Given the description of an element on the screen output the (x, y) to click on. 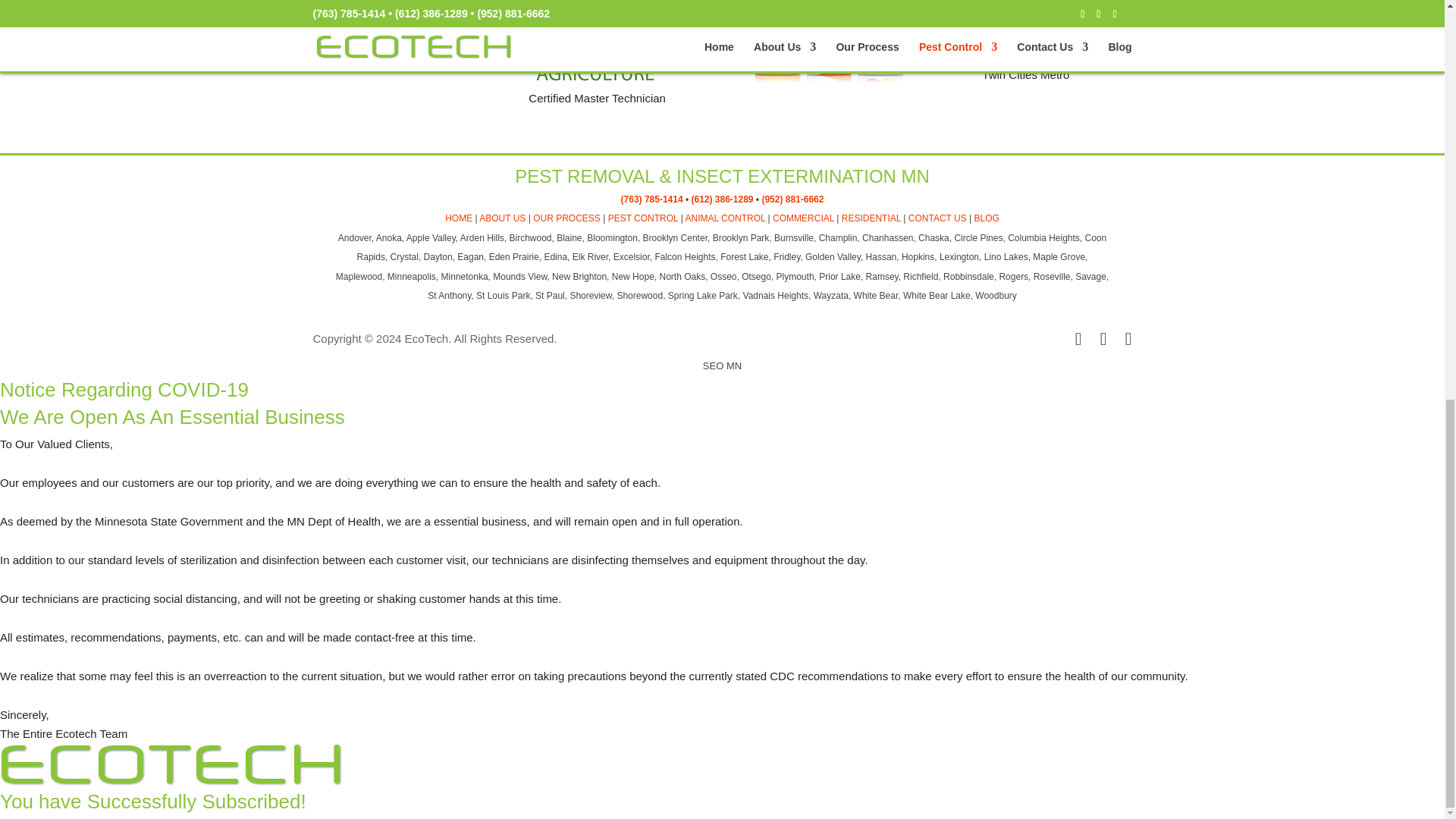
HOME (458, 217)
Search Engine Optimization MN (722, 365)
ABOUT US (502, 217)
OUR PROCESS (565, 217)
